Given the description of an element on the screen output the (x, y) to click on. 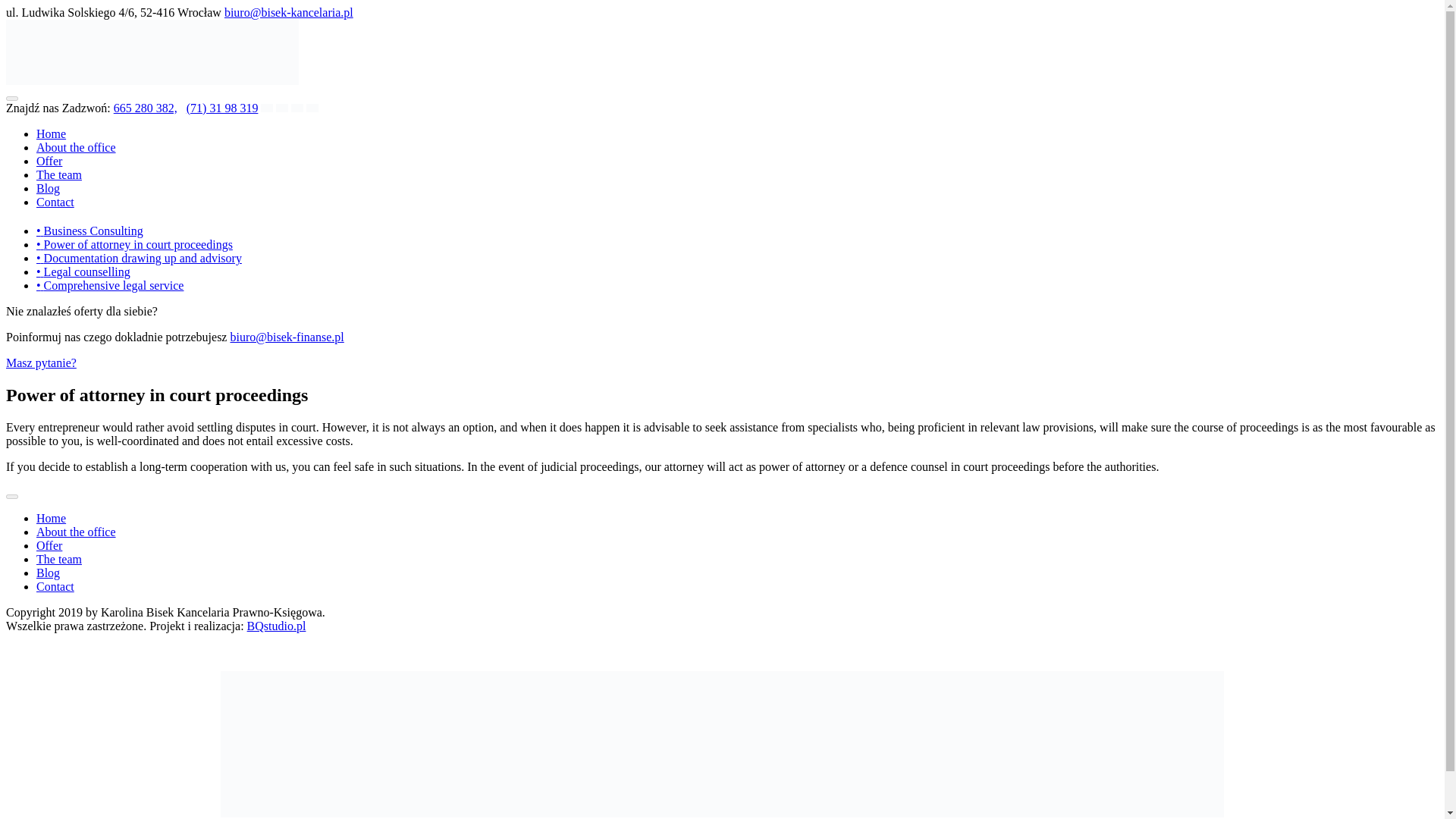
The team (58, 558)
Contact (55, 585)
Home (50, 517)
Contact (55, 201)
Masz pytanie? (41, 362)
Home (50, 133)
About the office (76, 146)
Blog (47, 187)
BQstudio.pl (276, 625)
About the office (76, 531)
